Given the description of an element on the screen output the (x, y) to click on. 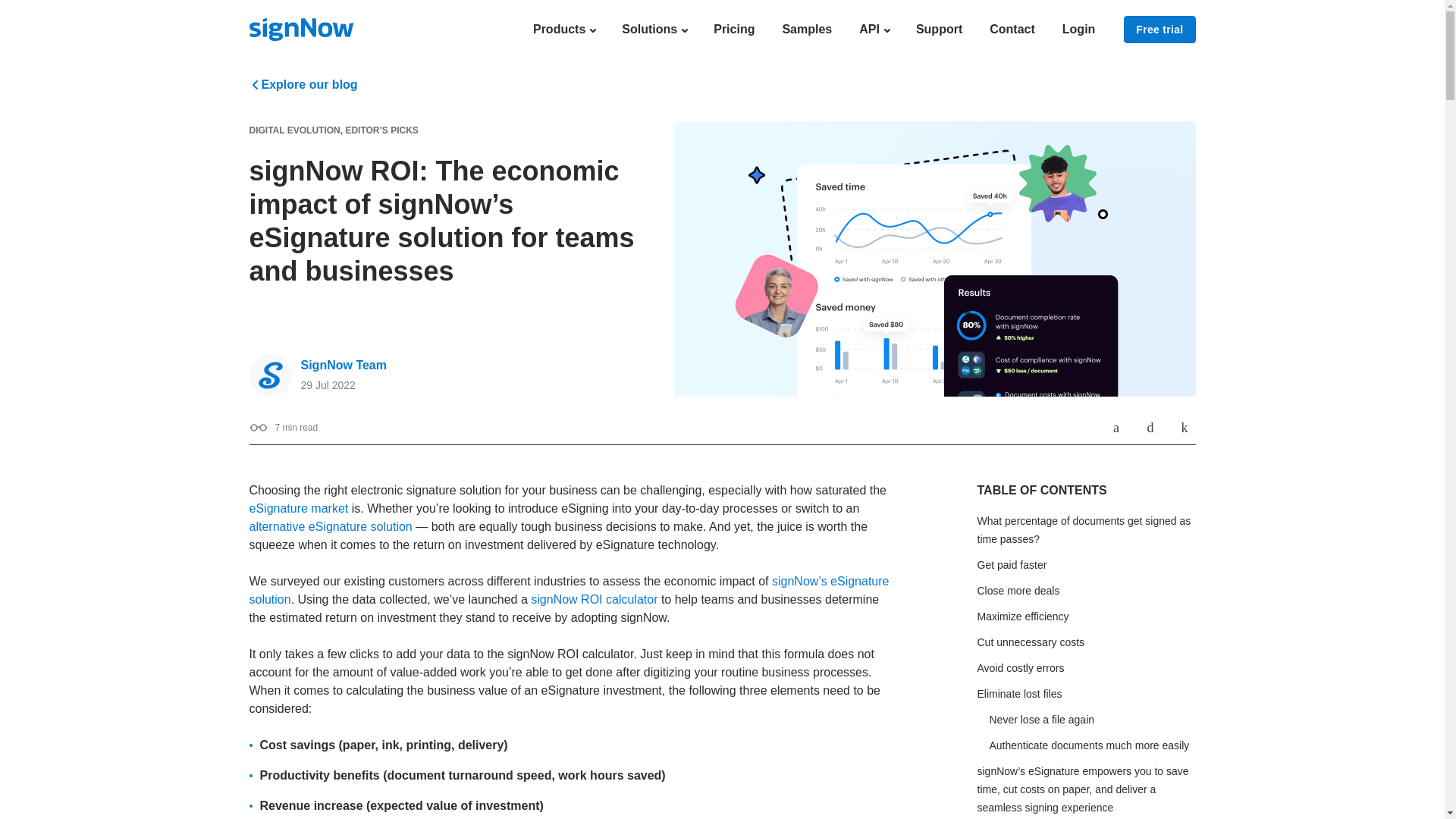
Products (563, 29)
Posts by SignNow Team (343, 364)
Solutions (653, 29)
Samples (806, 29)
